Given the description of an element on the screen output the (x, y) to click on. 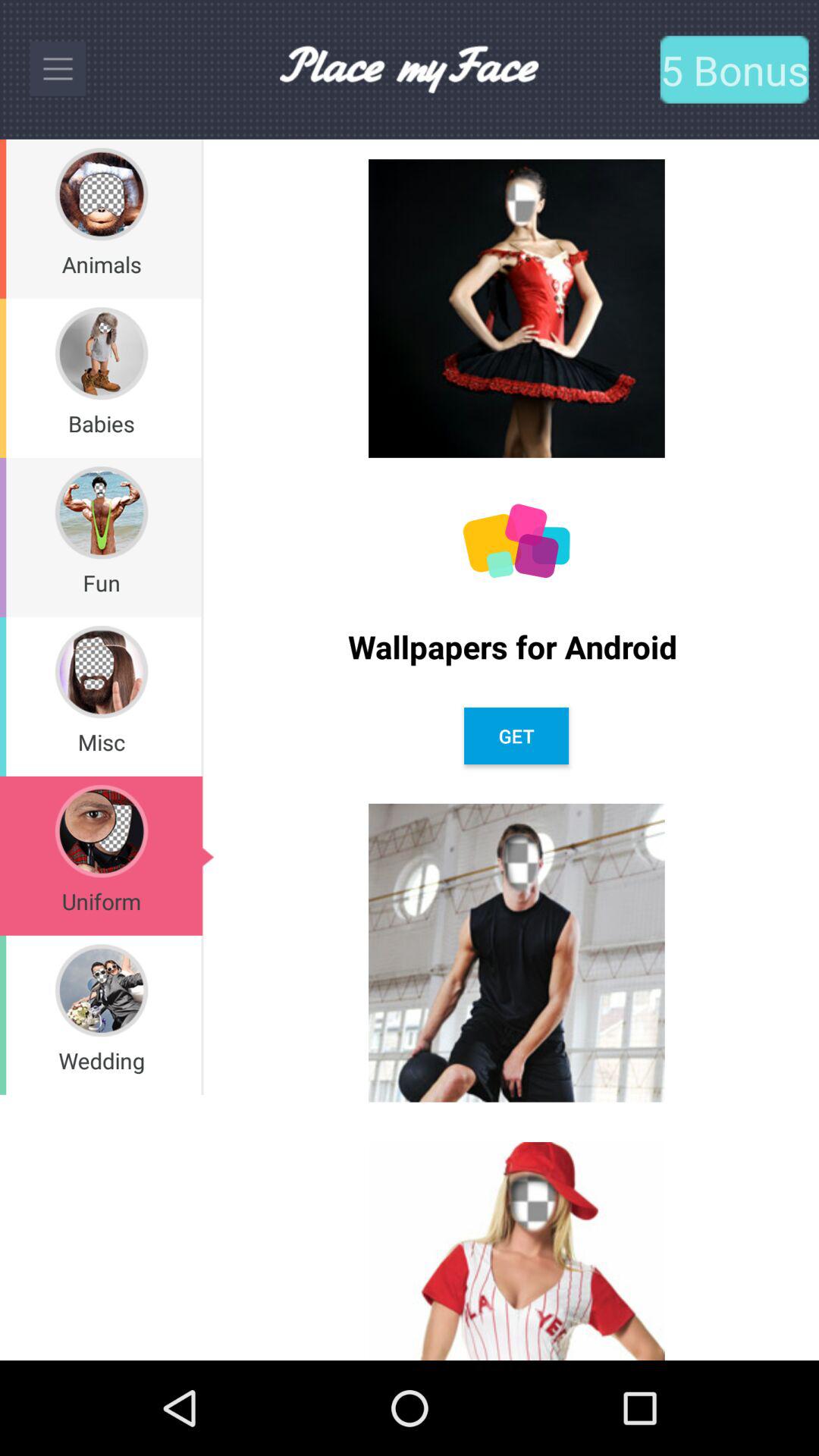
the no of types wallpaper (516, 541)
